Given the description of an element on the screen output the (x, y) to click on. 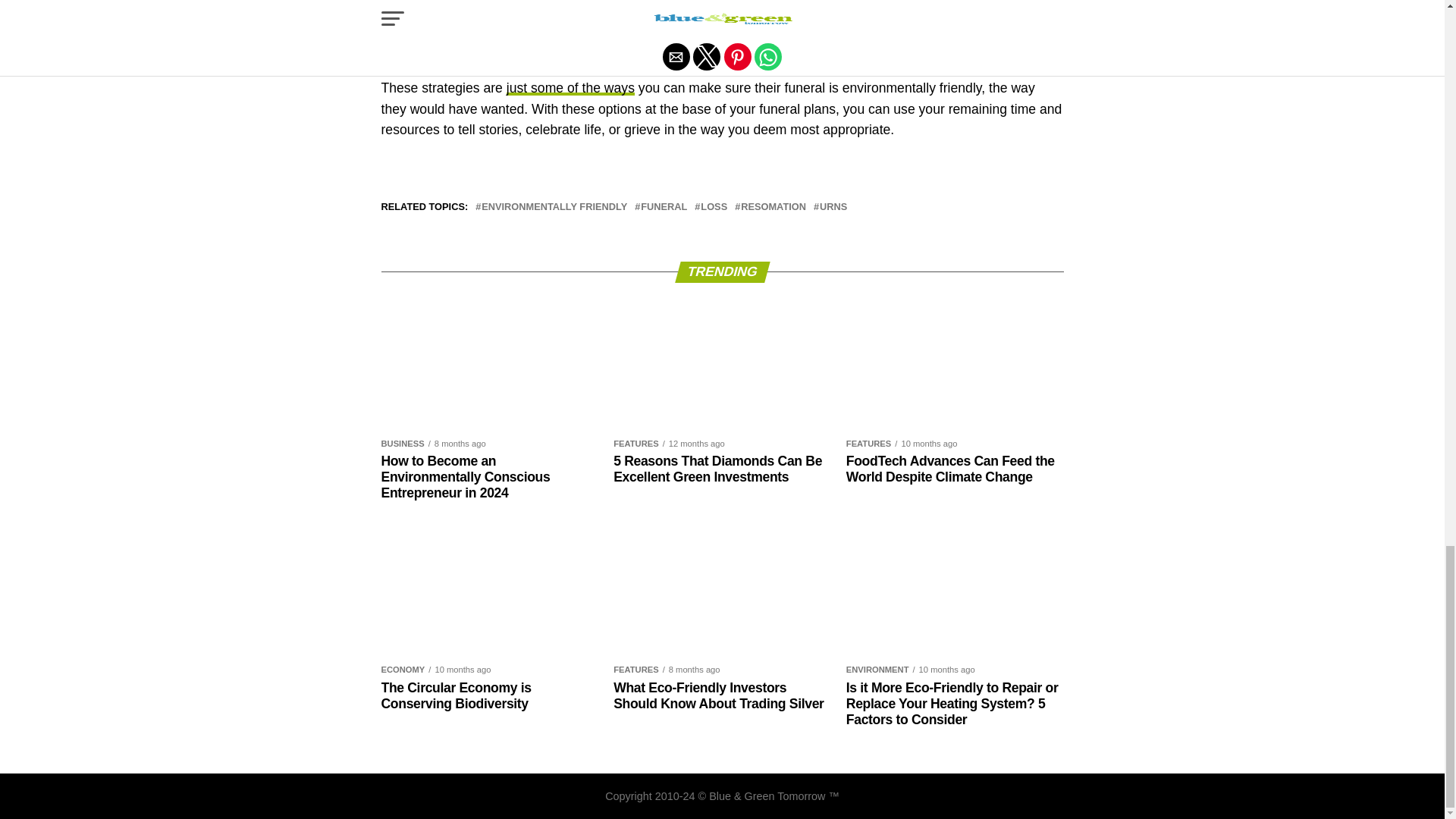
just some of the ways (570, 87)
ENVIRONMENTALLY FRIENDLY (554, 207)
RESOMATION (773, 207)
URNS (833, 207)
LOSS (713, 207)
FUNERAL (663, 207)
